Given the description of an element on the screen output the (x, y) to click on. 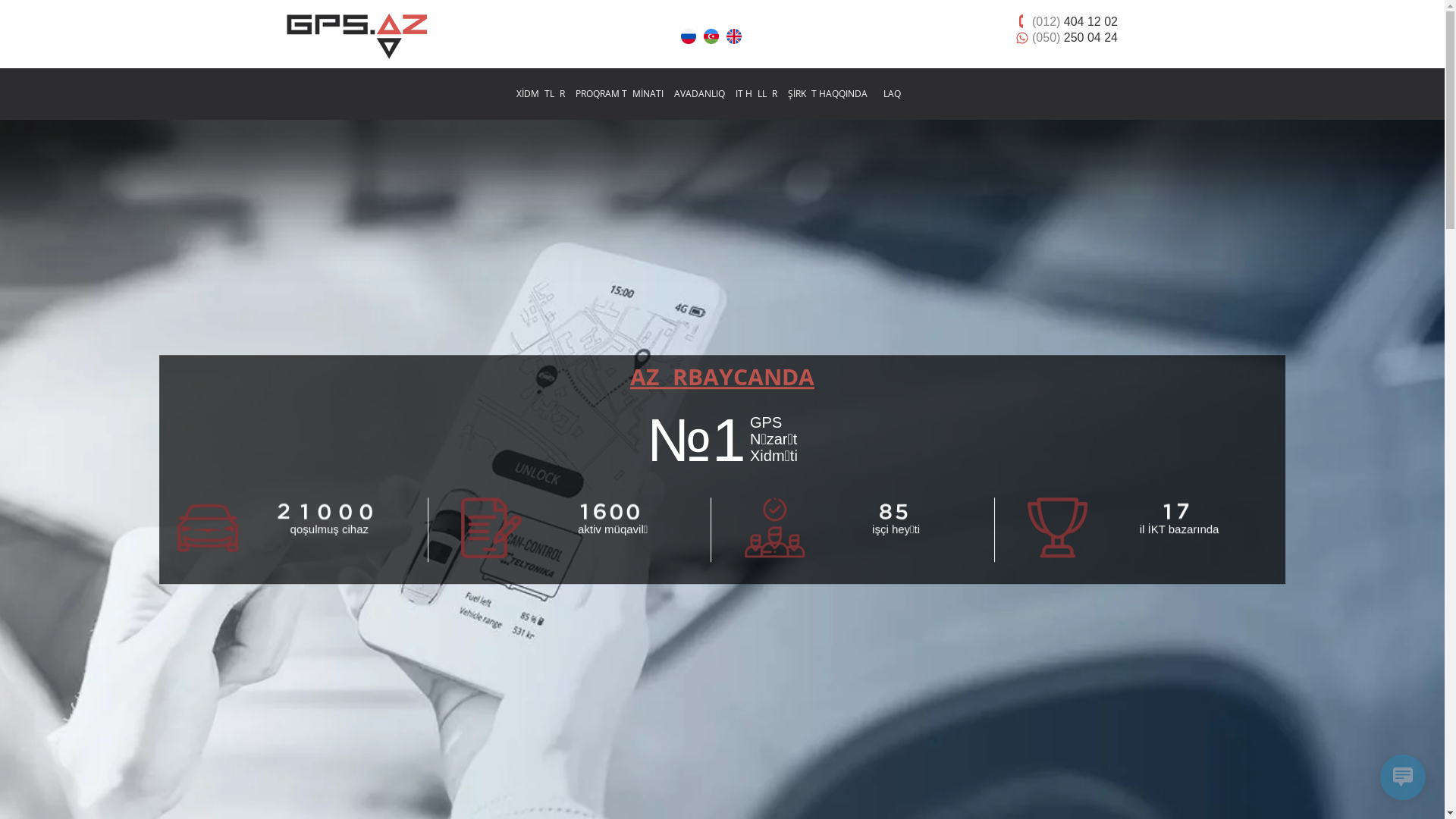
(050) 250 04 24 Element type: text (1074, 37)
AVADANLIQ Element type: text (698, 93)
(012) 404 12 02 Element type: text (1074, 21)
